Given the description of an element on the screen output the (x, y) to click on. 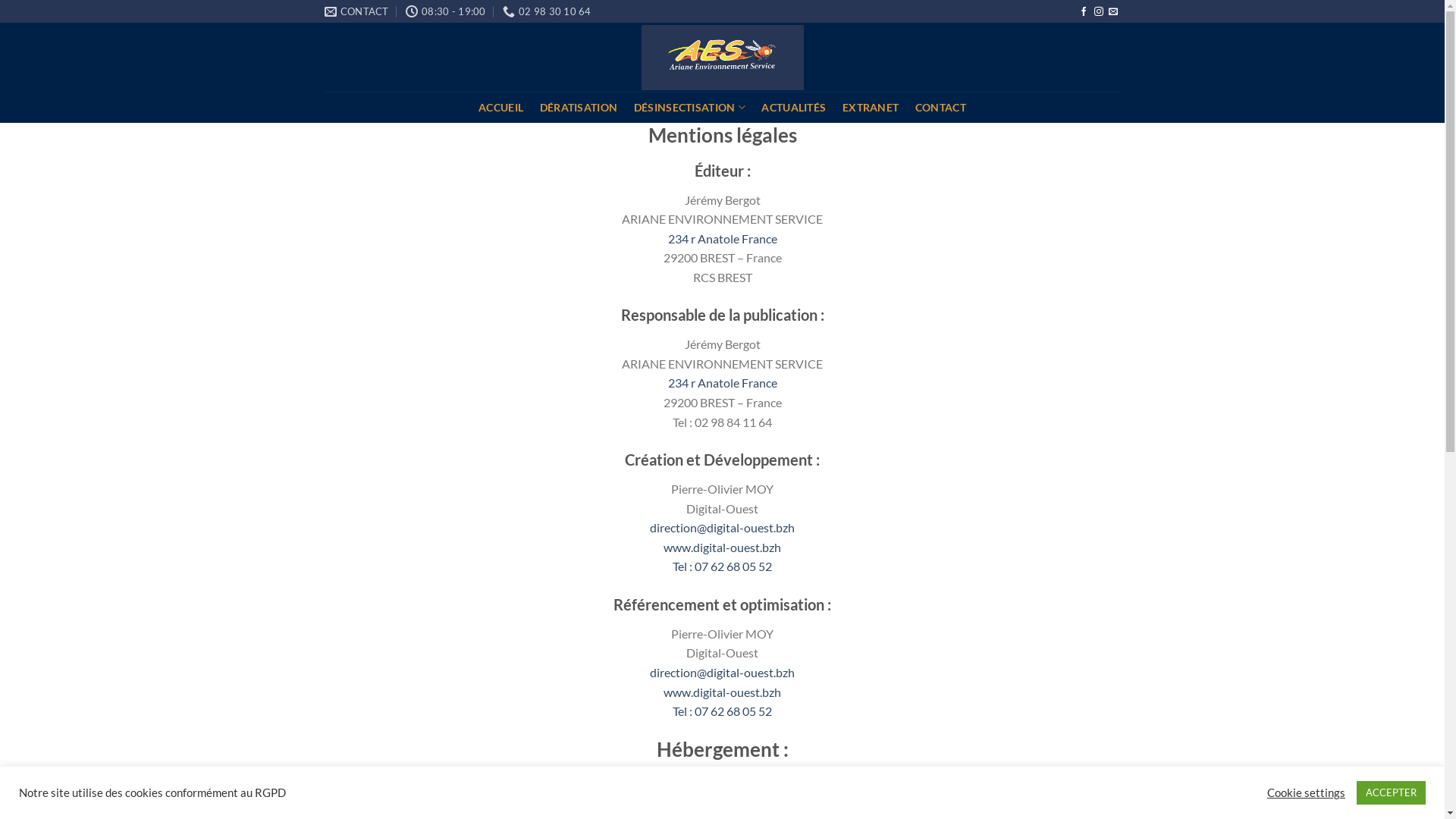
AES - Ariane Environnement Service Element type: hover (722, 57)
CONTACT Element type: text (940, 106)
CONTACT Element type: text (356, 11)
ACCUEIL Element type: text (500, 106)
08:30 - 19:00 Element type: text (445, 11)
02 98 30 10 64 Element type: text (546, 11)
Cookie settings Element type: text (1306, 792)
EXTRANET Element type: text (870, 106)
234 r Anatole France Element type: text (721, 238)
direction@digital-ouest.bzh Element type: text (721, 672)
Skip to content Element type: text (0, 0)
www.digital-ouest.bzh
Tel : 07 62 68 05 52 Element type: text (722, 556)
234 r Anatole France Element type: text (721, 382)
direction@digital-ouest.bzh Element type: text (721, 527)
www.digital-ouest.bzh
Tel : 07 62 68 05 52 Element type: text (722, 701)
ACCEPTER Element type: text (1390, 792)
